Given the description of an element on the screen output the (x, y) to click on. 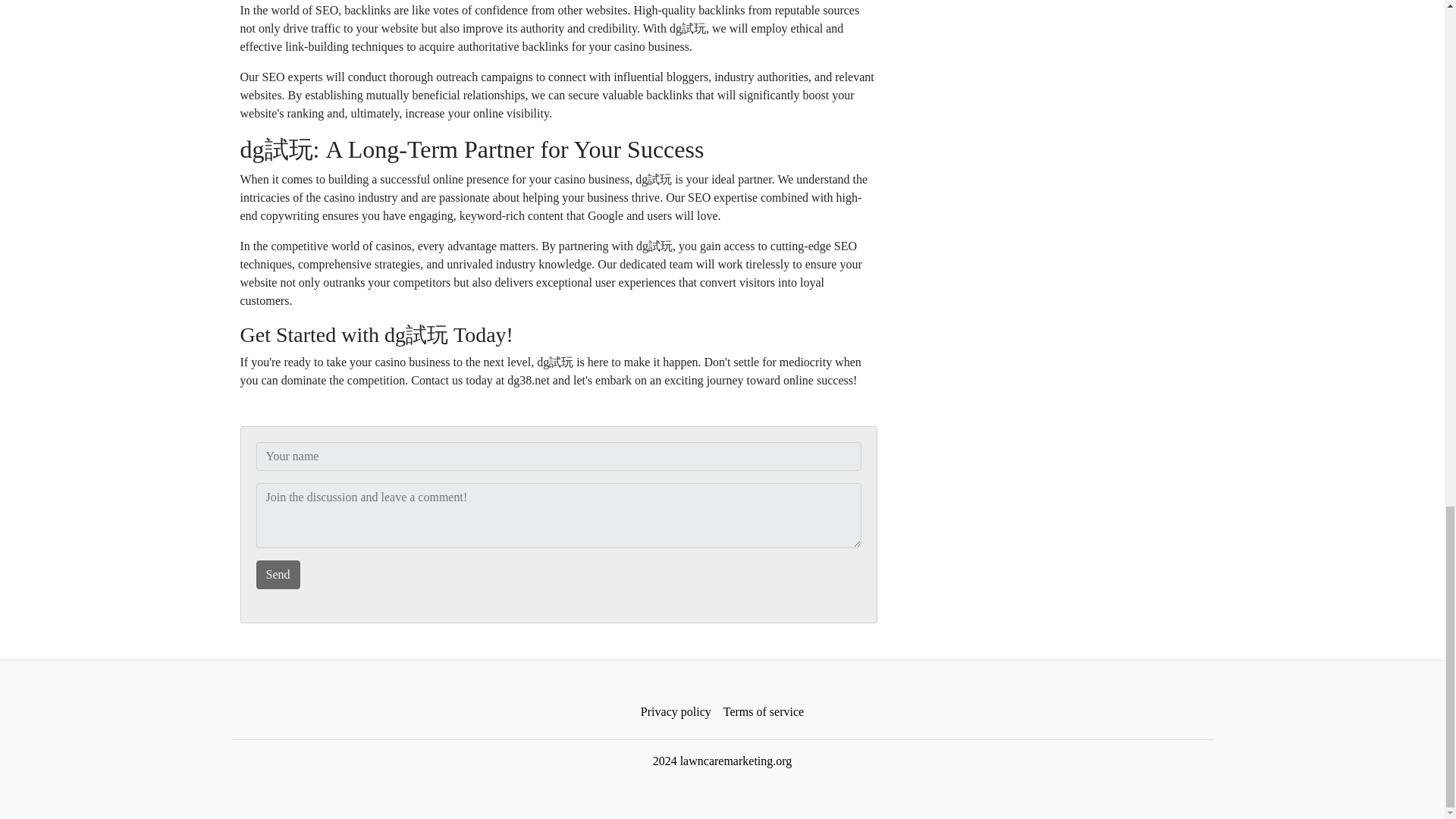
Privacy policy (675, 711)
Send (277, 574)
Send (277, 574)
Terms of service (763, 711)
